Given the description of an element on the screen output the (x, y) to click on. 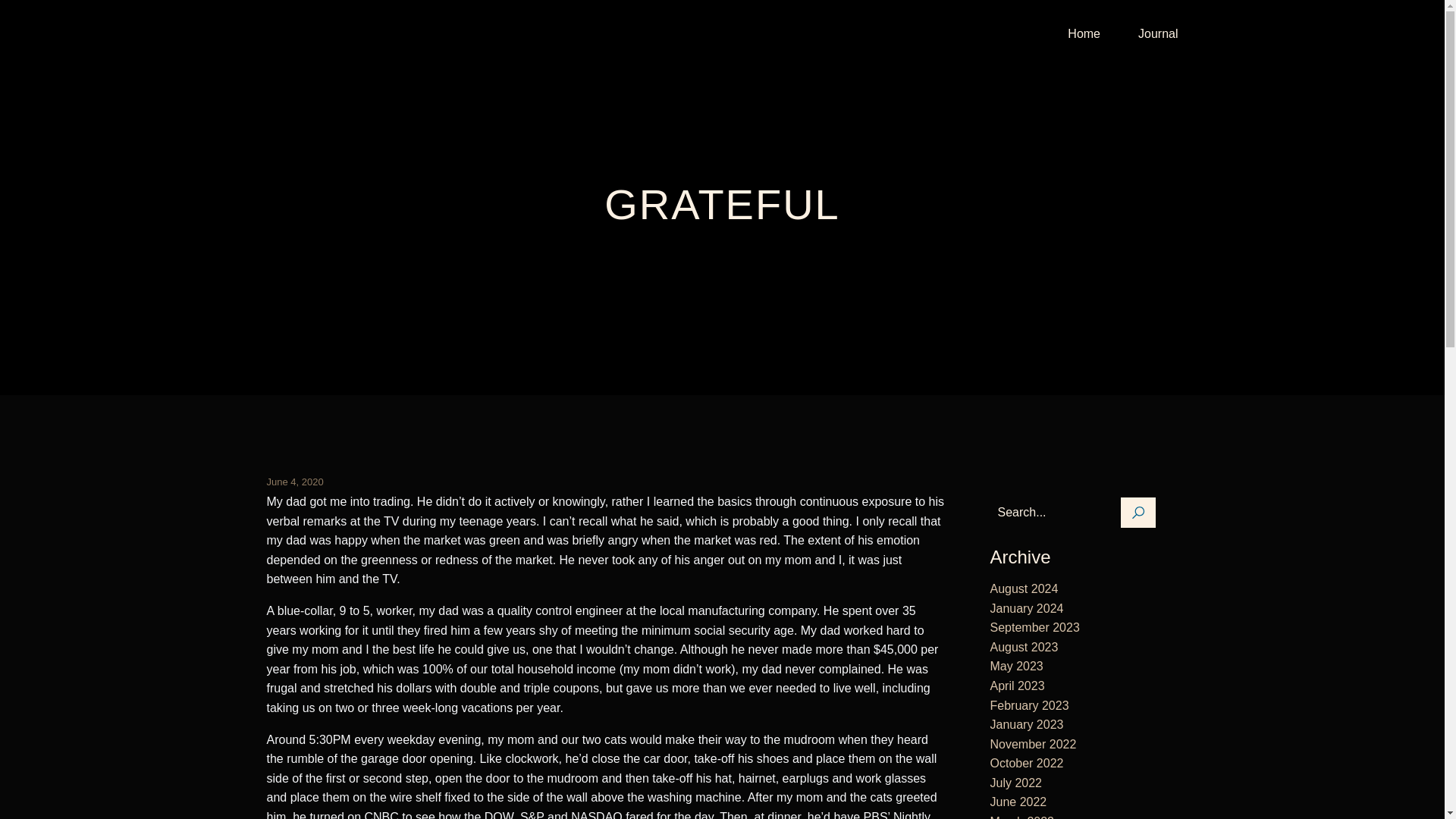
November 2022 (1033, 744)
August 2023 (1024, 646)
June 4, 2020 (294, 482)
June 2022 (1018, 801)
May 2023 (1016, 666)
April 2023 (1017, 685)
July 2022 (1016, 782)
February 2023 (1029, 705)
September 2023 (1035, 626)
January 2024 (1027, 608)
